Given the description of an element on the screen output the (x, y) to click on. 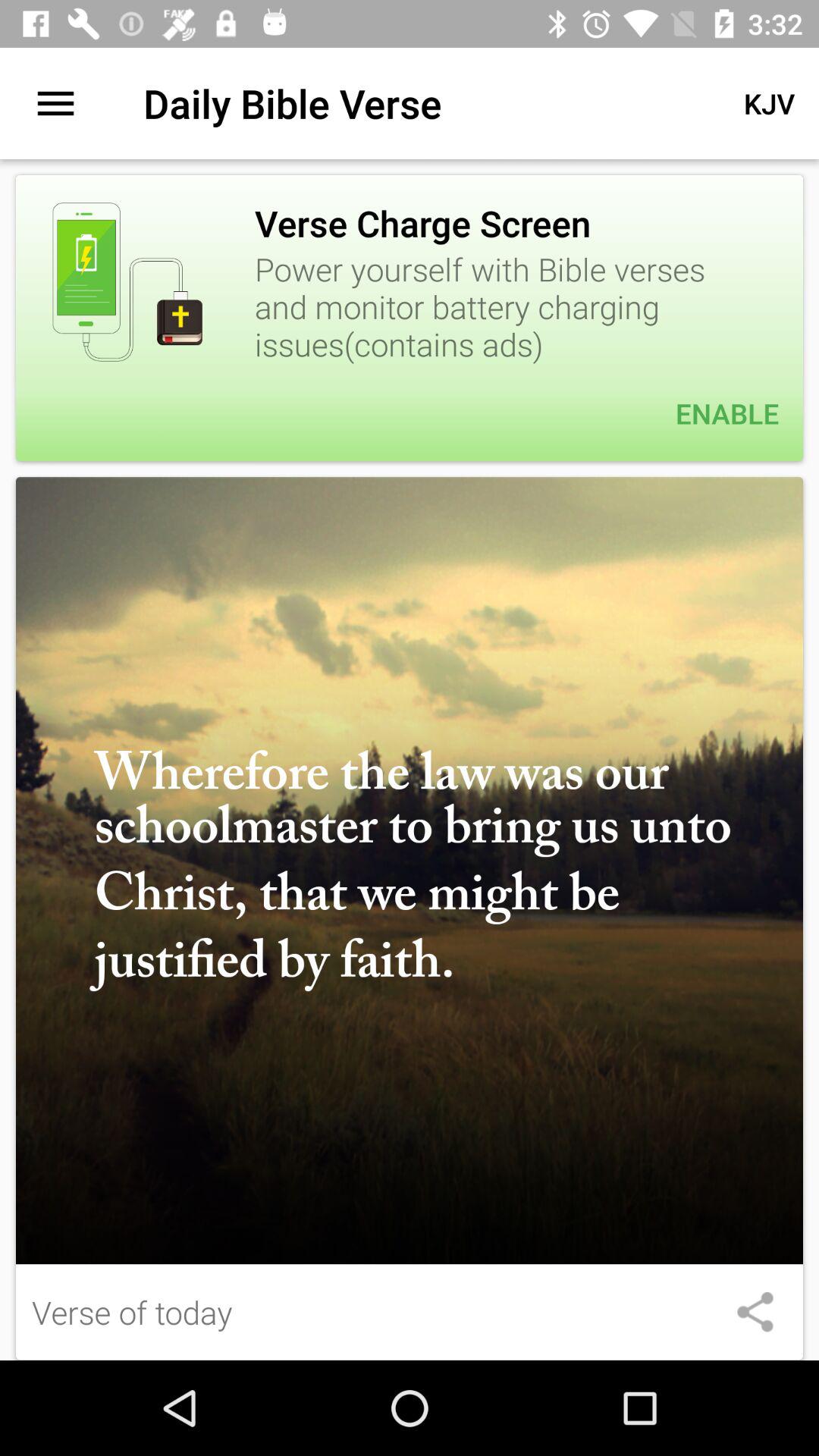
share daily bible verse (755, 1311)
